Given the description of an element on the screen output the (x, y) to click on. 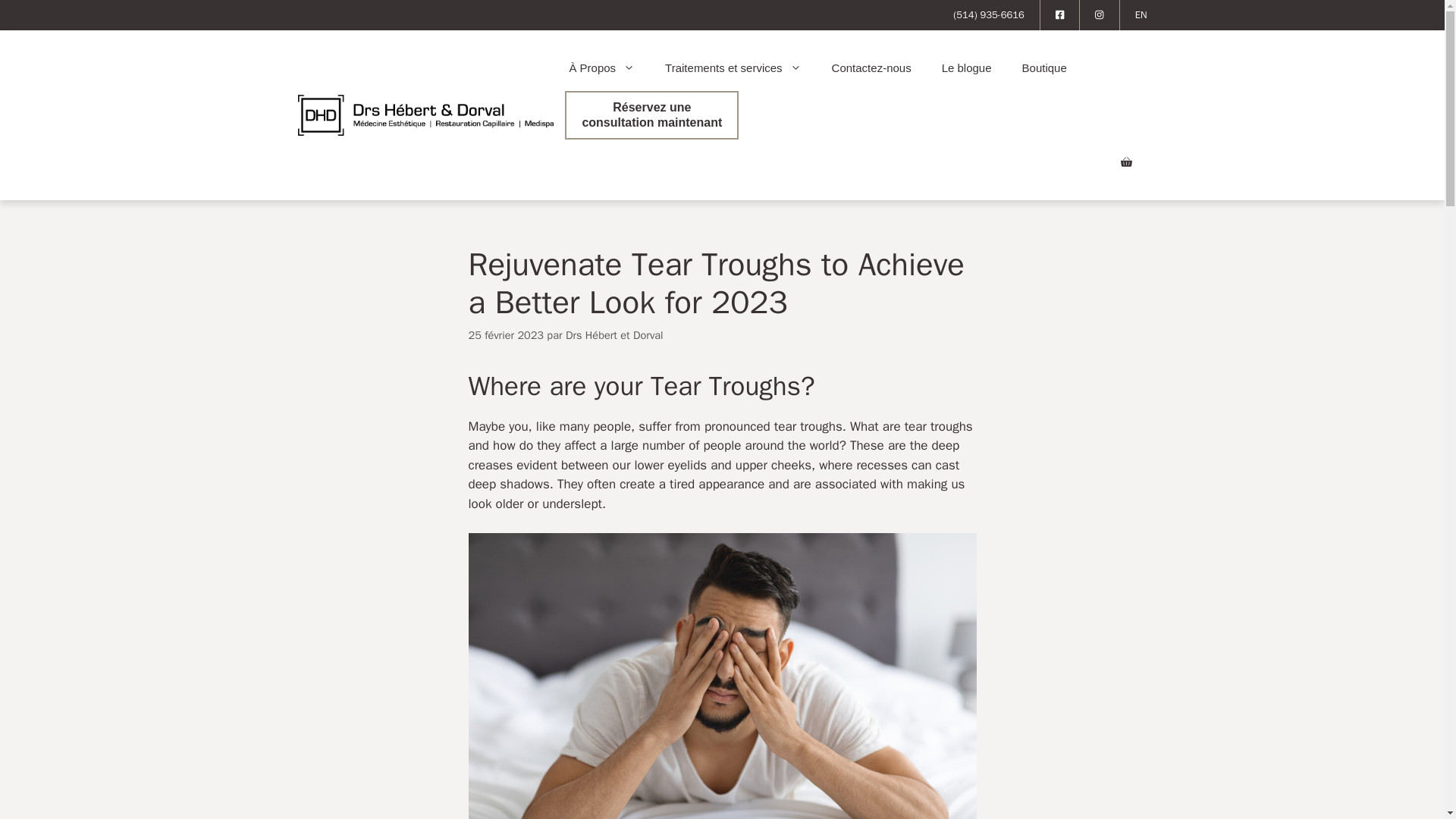
Instagram (1099, 15)
View your shopping cart (1126, 162)
Traitements et services (732, 67)
Facebook (1060, 15)
EN (1140, 15)
